Given the description of an element on the screen output the (x, y) to click on. 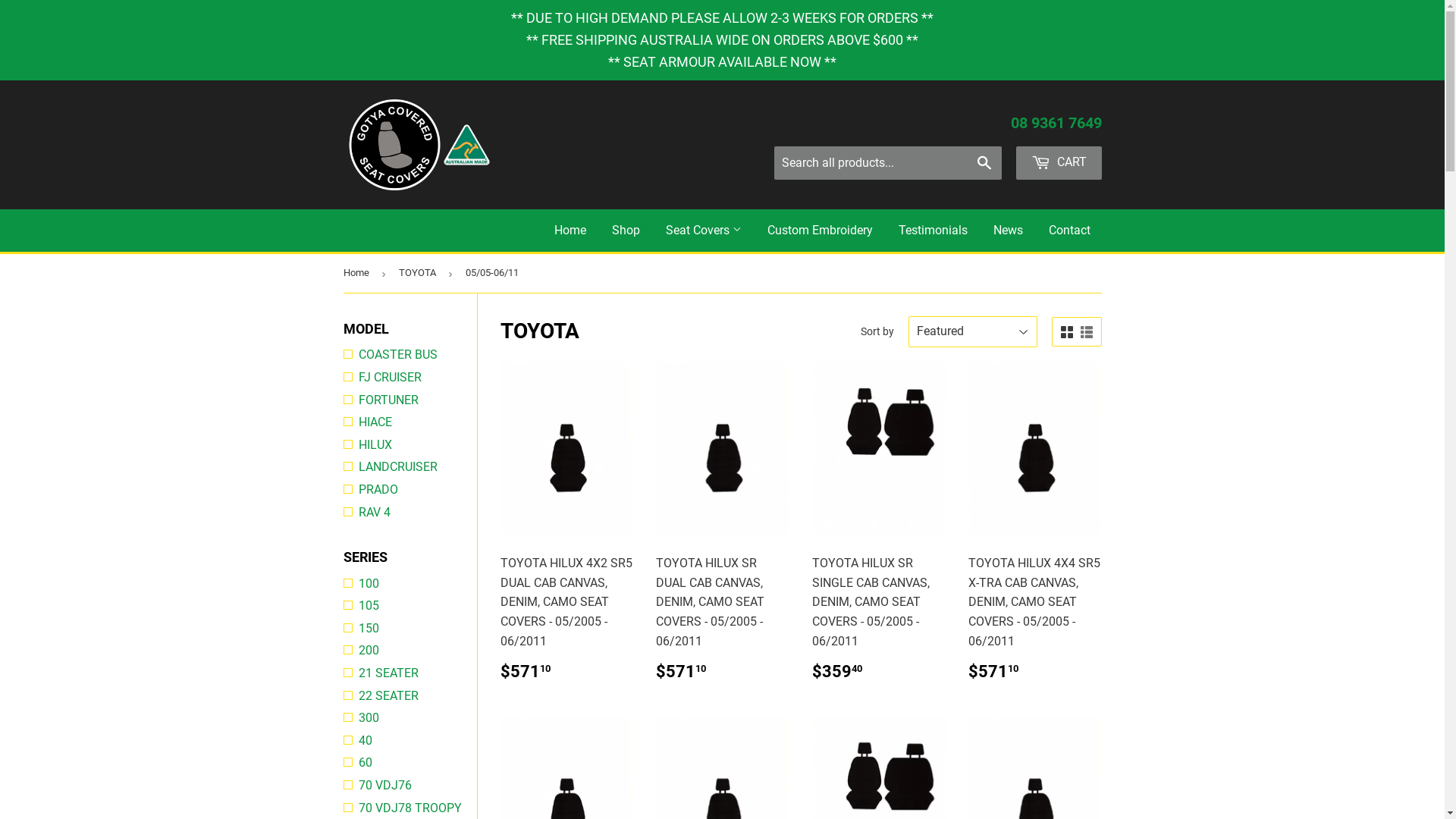
Search Element type: text (984, 163)
Seat Covers Element type: text (702, 230)
Home Element type: text (569, 230)
HILUX Element type: text (409, 445)
COASTER BUS Element type: text (409, 354)
105 Element type: text (409, 605)
HIACE Element type: text (409, 422)
21 SEATER Element type: text (409, 673)
CART Element type: text (1058, 162)
08 9361 7649 Element type: text (1055, 122)
FJ CRUISER Element type: text (409, 377)
Shop Element type: text (625, 230)
40 Element type: text (409, 740)
FORTUNER Element type: text (409, 400)
Testimonials Element type: text (933, 230)
LANDCRUISER Element type: text (409, 466)
Custom Embroidery Element type: text (819, 230)
70 VDJ76 Element type: text (409, 785)
Home Element type: text (357, 273)
60 Element type: text (409, 762)
PRADO Element type: text (409, 489)
200 Element type: text (409, 650)
300 Element type: text (409, 718)
List view Element type: hover (1085, 332)
100 Element type: text (409, 583)
TOYOTA Element type: text (419, 273)
70 VDJ78 TROOPY Element type: text (409, 808)
RAV 4 Element type: text (409, 512)
Grid view Element type: hover (1066, 332)
News Element type: text (1007, 230)
22 SEATER Element type: text (409, 696)
Contact Element type: text (1069, 230)
150 Element type: text (409, 628)
